Given the description of an element on the screen output the (x, y) to click on. 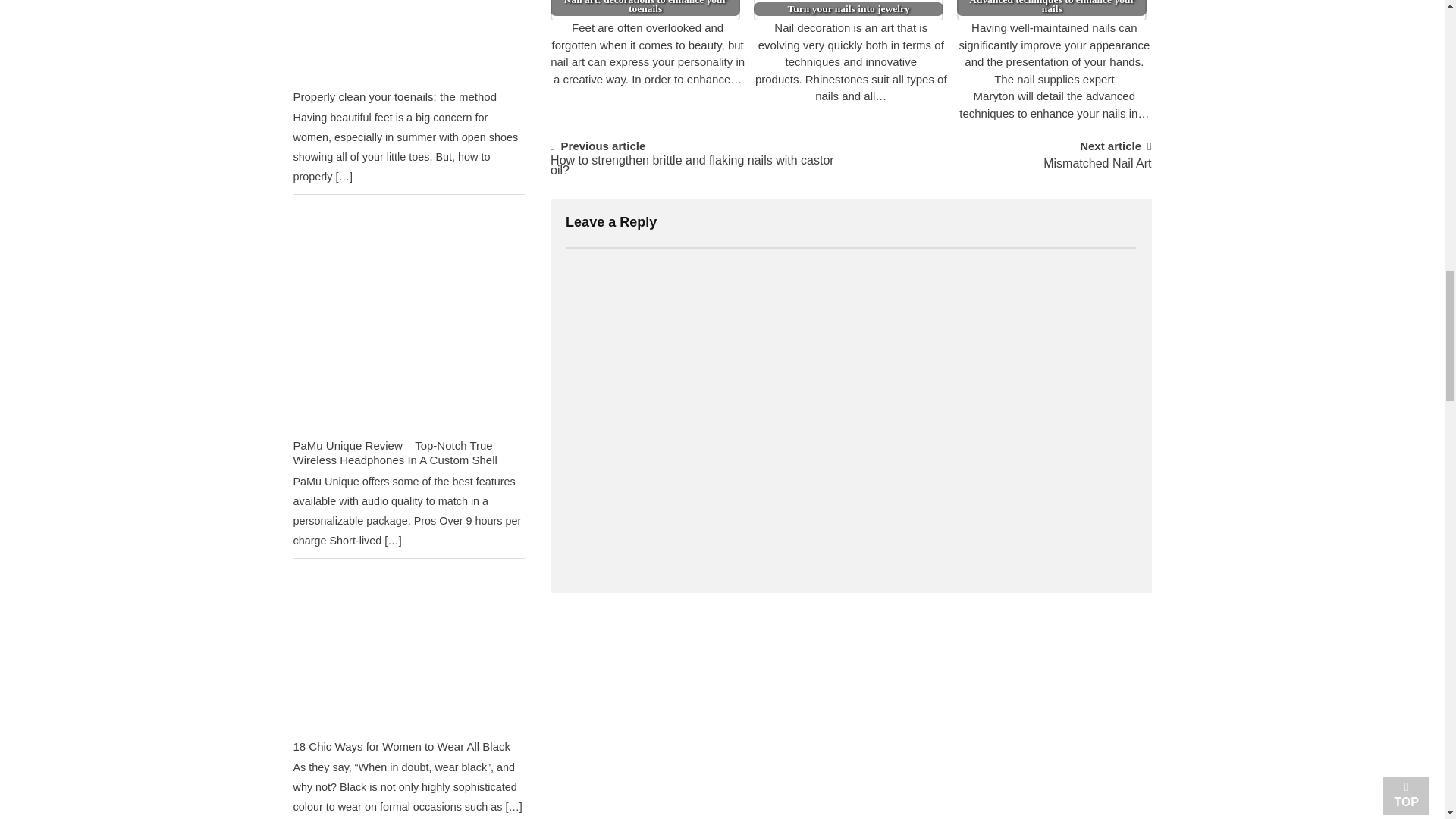
Advanced techniques to enhance your nails (1051, 10)
Turn your nails into jewelry (848, 10)
Nail art: decorations to enhance your toenails (644, 10)
